Given the description of an element on the screen output the (x, y) to click on. 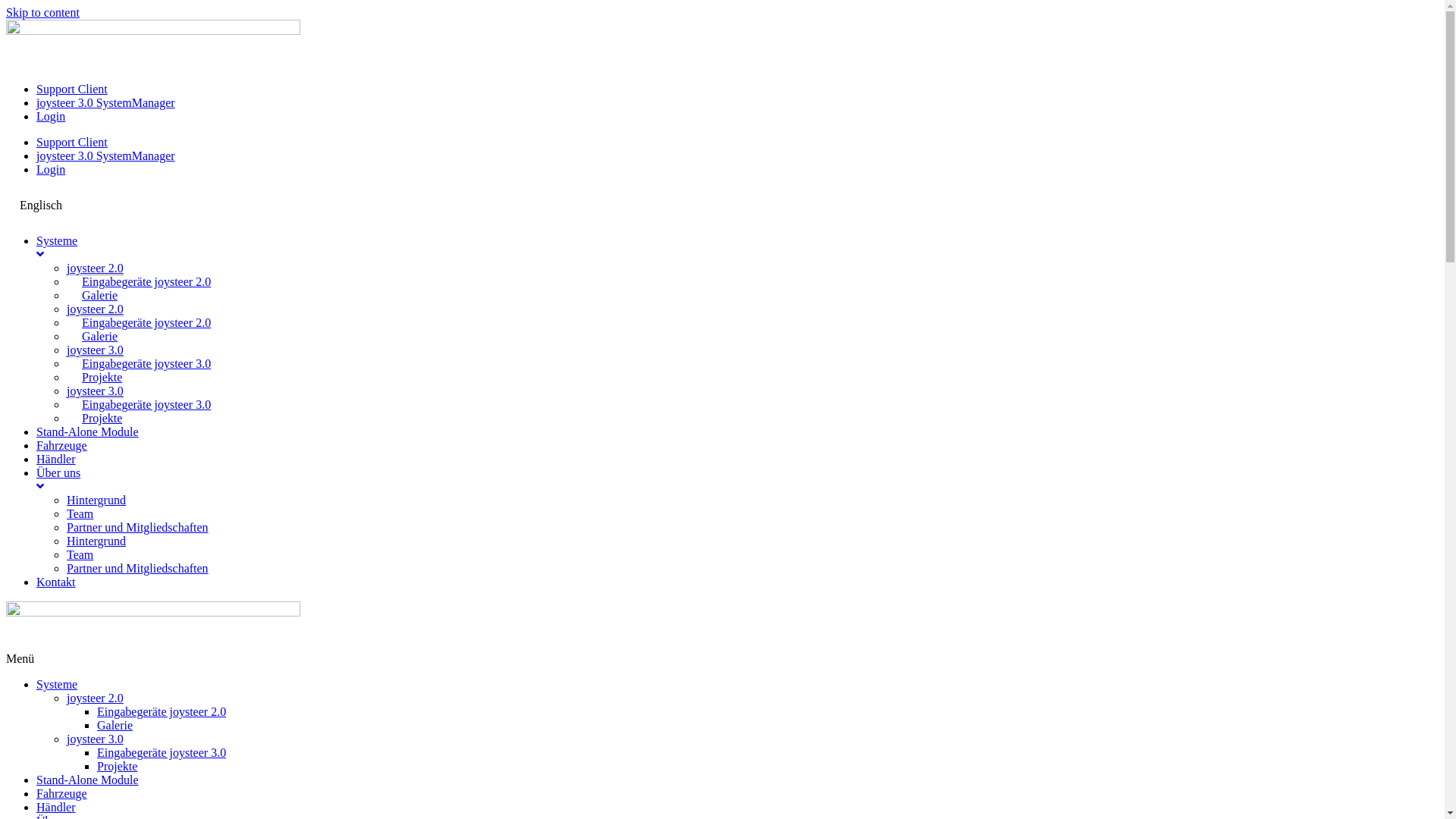
Partner und Mitgliedschaften Element type: text (137, 567)
Stand-Alone Module Element type: text (737, 432)
joysteer 3.0 SystemManager Element type: text (105, 102)
joysteer 3.0 Element type: text (94, 738)
Hintergrund Element type: text (95, 540)
Projekte Element type: text (101, 417)
Projekte Element type: text (117, 765)
Kontakt Element type: text (737, 582)
joysteer 2.0 Element type: text (94, 697)
Galerie Element type: text (99, 335)
Systeme Element type: text (737, 247)
Stand-Alone Module Element type: text (87, 779)
Galerie Element type: text (99, 294)
Support Client Element type: text (71, 141)
joysteer 3.0 Element type: text (94, 350)
joysteer 2.0 Element type: text (94, 309)
Login Element type: text (50, 169)
Team Element type: text (79, 554)
Englisch Element type: text (40, 205)
Fahrzeuge Element type: text (61, 793)
Fahrzeuge Element type: text (737, 445)
Team Element type: text (79, 513)
Skip to content Element type: text (42, 12)
Partner und Mitgliedschaften Element type: text (137, 526)
Support Client Element type: text (71, 88)
Hintergrund Element type: text (95, 499)
Login Element type: text (50, 115)
joysteer 3.0 SystemManager Element type: text (105, 155)
joysteer 3.0 Element type: text (94, 391)
joysteer 2.0 Element type: text (94, 268)
Projekte Element type: text (101, 376)
Systeme Element type: text (56, 683)
Galerie Element type: text (114, 724)
